Given the description of an element on the screen output the (x, y) to click on. 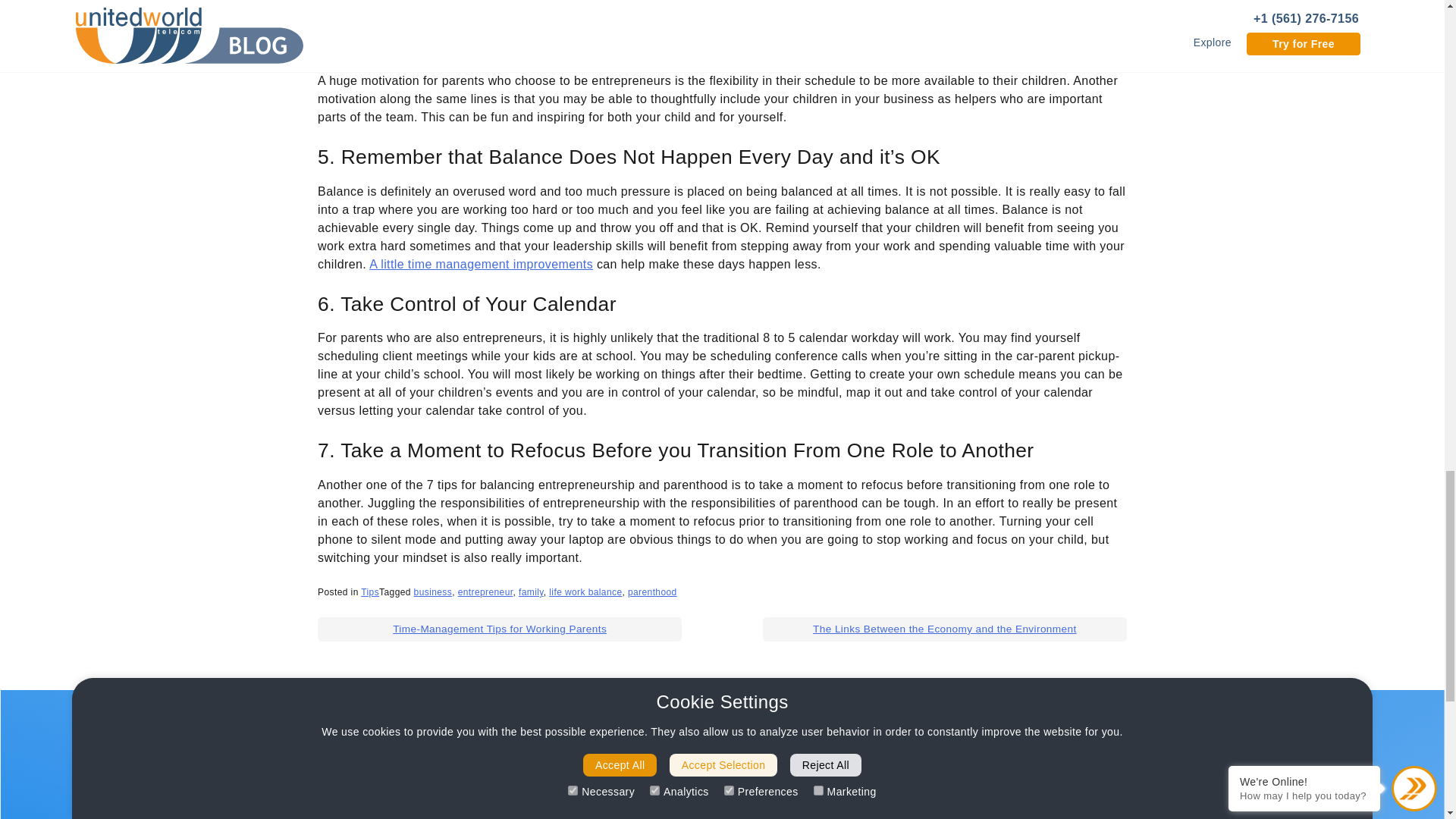
Tips (369, 592)
entrepreneur (485, 592)
A little time management improvements (480, 264)
business (432, 592)
